Given the description of an element on the screen output the (x, y) to click on. 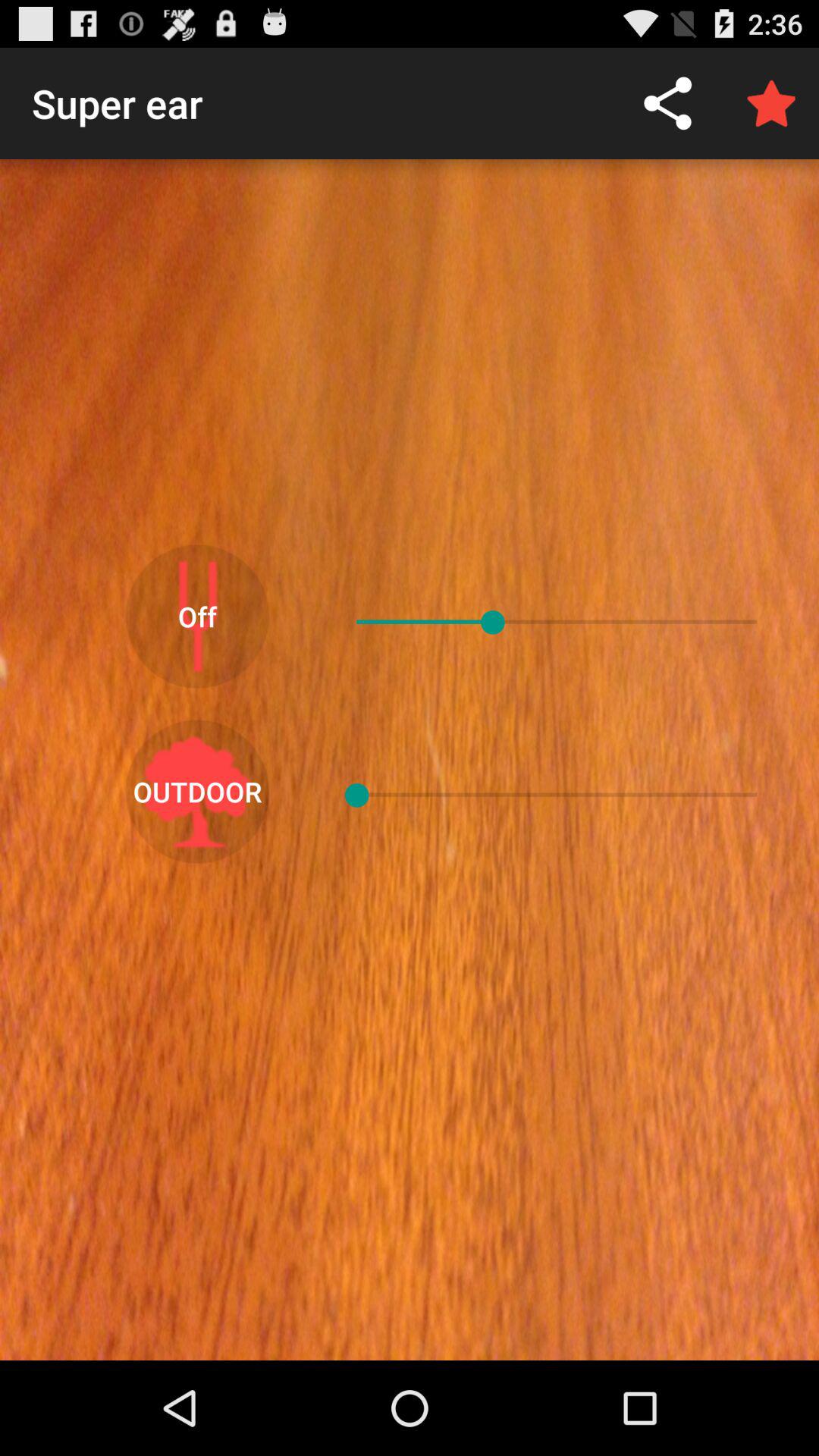
turn on outdoor icon (196, 791)
